Given the description of an element on the screen output the (x, y) to click on. 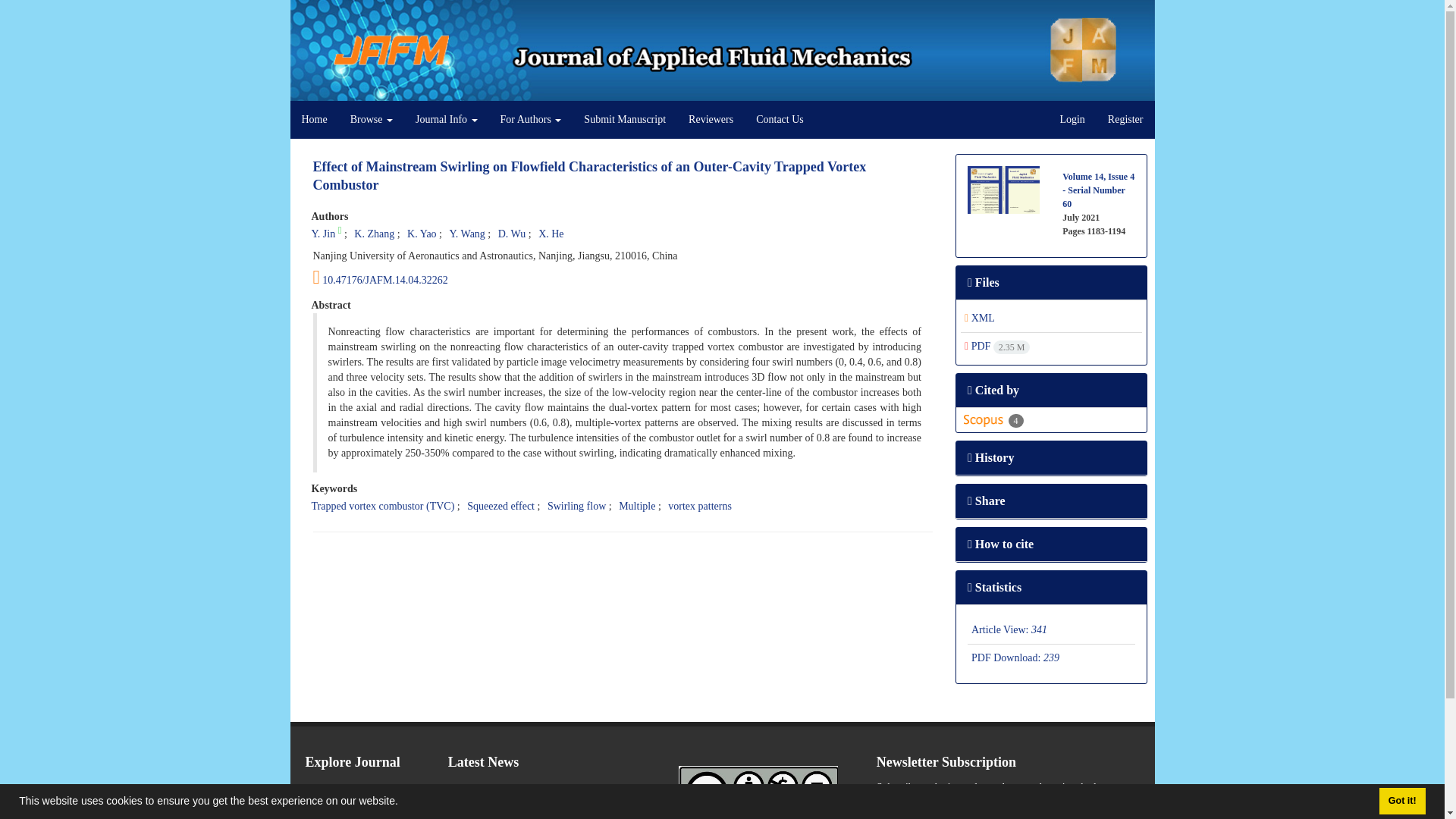
Got it! (1401, 800)
Cited by Scopus (991, 419)
Journal Info (446, 119)
X. He (550, 233)
K. Zhang (373, 233)
Cited by Scopus (984, 420)
Browse (371, 119)
DOI (623, 277)
Login (1072, 119)
Reviewers (710, 119)
